Given the description of an element on the screen output the (x, y) to click on. 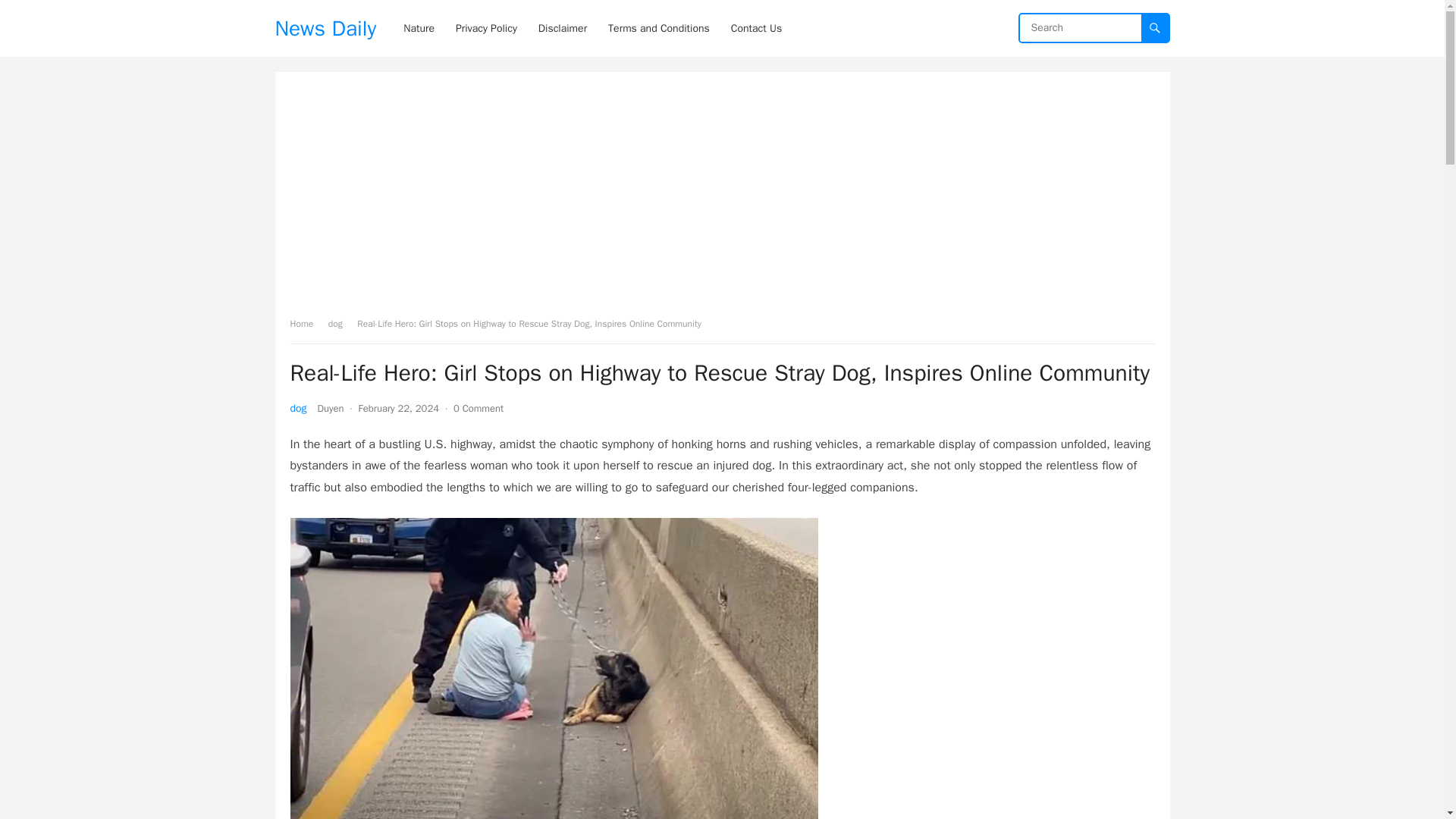
Contact Us (756, 28)
Privacy Policy (485, 28)
News Daily (325, 28)
Duyen (330, 408)
Terms and Conditions (658, 28)
0 Comment (477, 408)
Home (306, 323)
dog (341, 323)
Disclaimer (562, 28)
Posts by Duyen (330, 408)
